Given the description of an element on the screen output the (x, y) to click on. 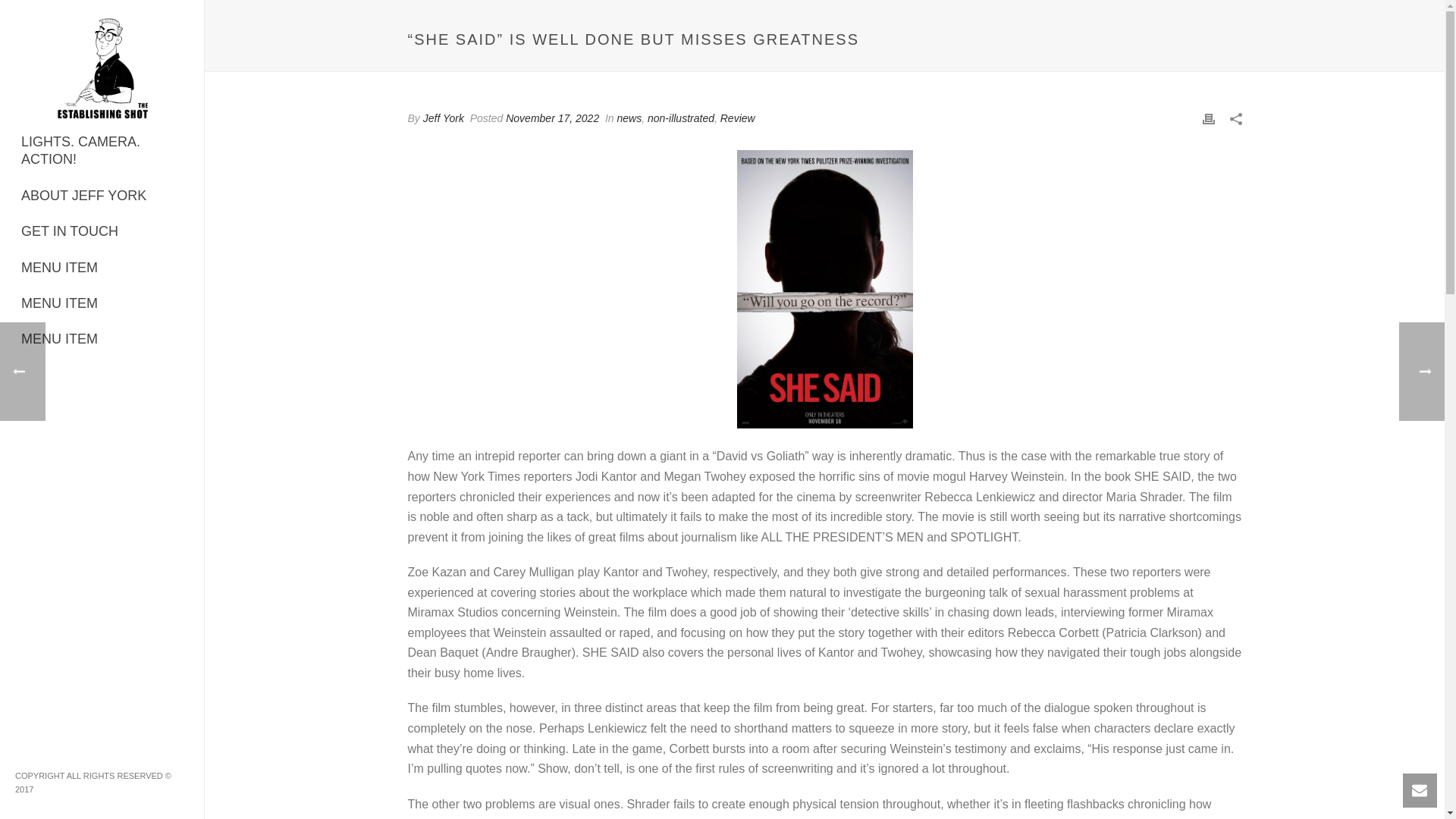
GET IN TOUCH (101, 231)
MENU ITEM (101, 267)
The Establishing Shot (101, 64)
MENU ITEM (101, 339)
ABOUT JEFF YORK (101, 195)
LIGHTS. CAMERA. ACTION! (101, 151)
November 17, 2022 (551, 118)
non-illustrated (680, 118)
Jeff York (443, 118)
news (629, 118)
